Given the description of an element on the screen output the (x, y) to click on. 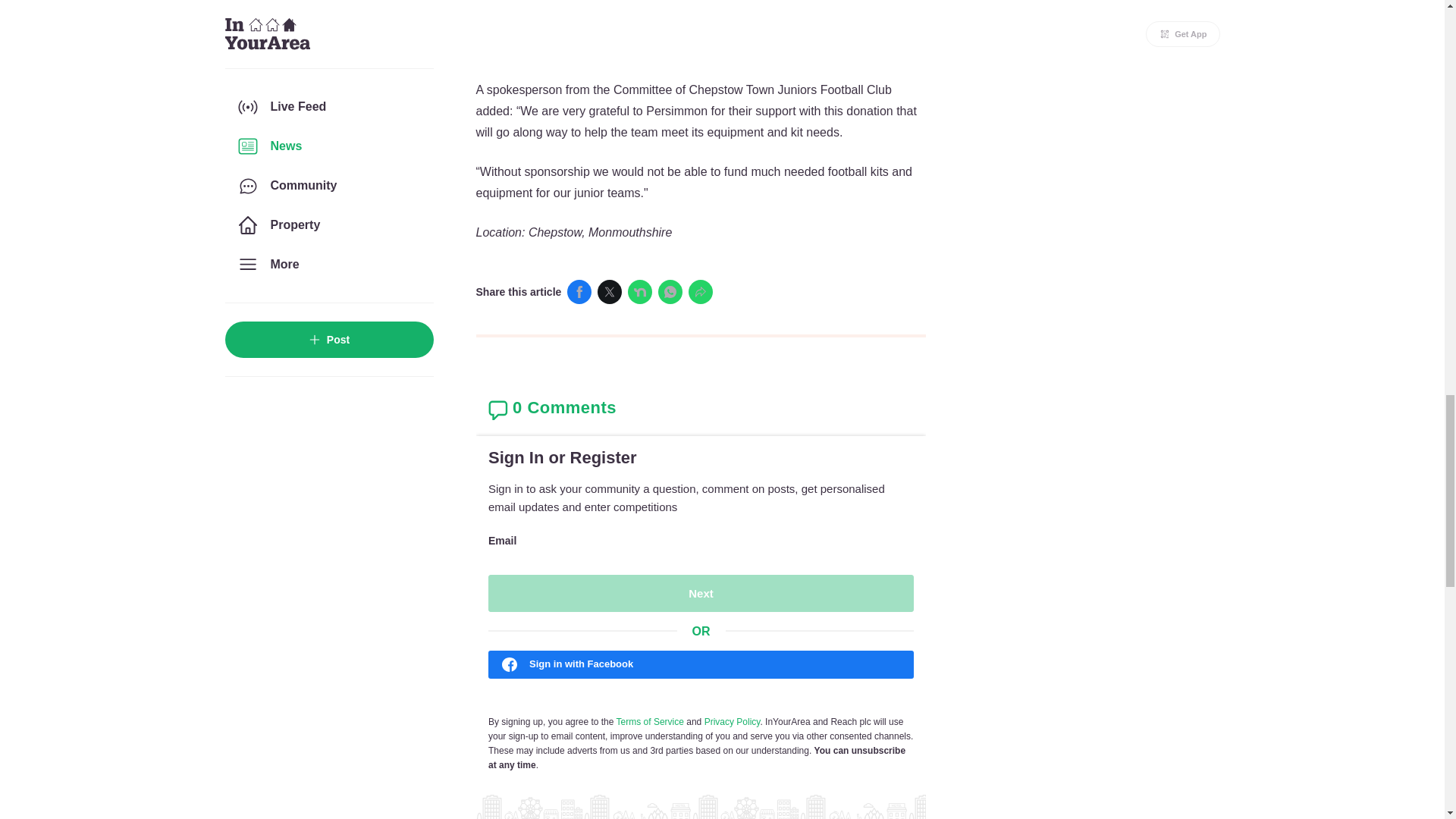
Share to Nextdoor (639, 291)
Share to ... (700, 291)
Share to X (608, 291)
Share to Whatsapp (670, 291)
Share to Facebook (579, 291)
